Given the description of an element on the screen output the (x, y) to click on. 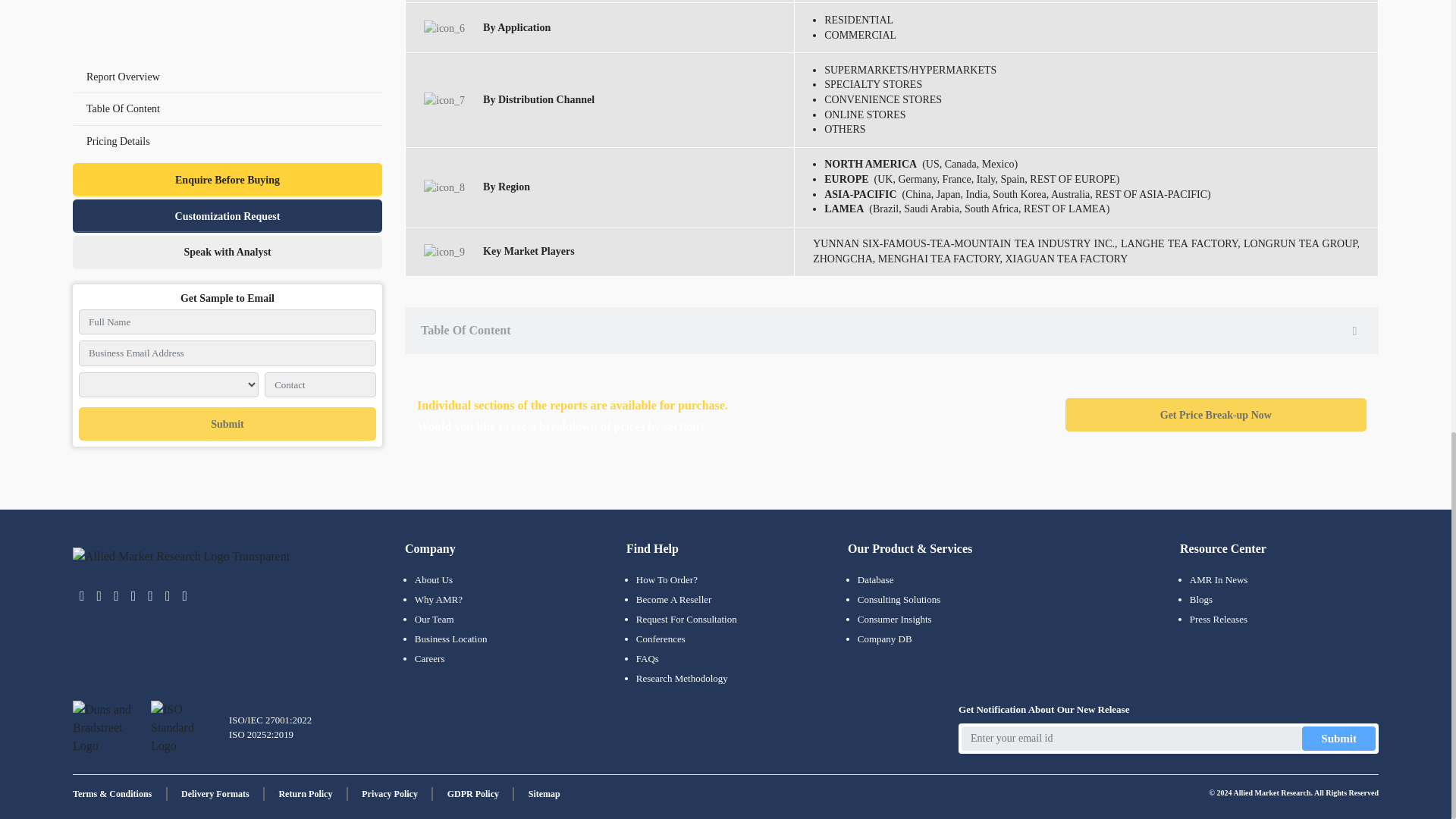
Table Of Content (891, 330)
Get Price Break-up Now (1216, 414)
Pu-erh Tea Market By Application (443, 28)
Allied Market Research Footer Logo (180, 556)
Pu-erh Tea Market By Distribution Channel (443, 100)
Key Market Players (443, 252)
Pu-erh Tea Market By Region (443, 187)
